Given the description of an element on the screen output the (x, y) to click on. 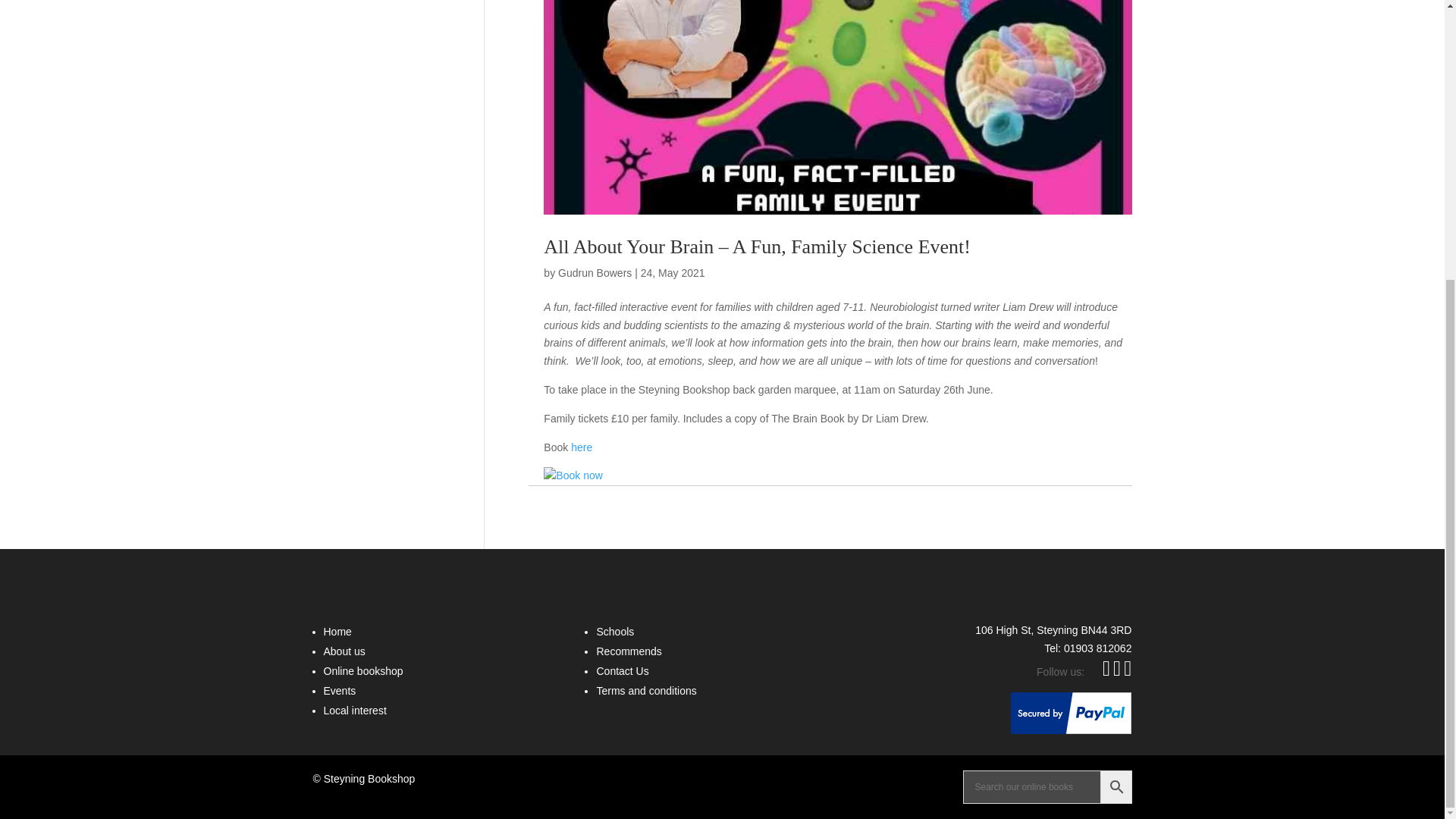
Posts by Gudrun Bowers (594, 272)
Local interest (354, 710)
Gudrun Bowers (594, 272)
Schools (614, 631)
01903 812062 (1098, 648)
Online bookshop (363, 671)
Recommends (628, 651)
Home (336, 631)
here (581, 447)
Events (339, 690)
